Given the description of an element on the screen output the (x, y) to click on. 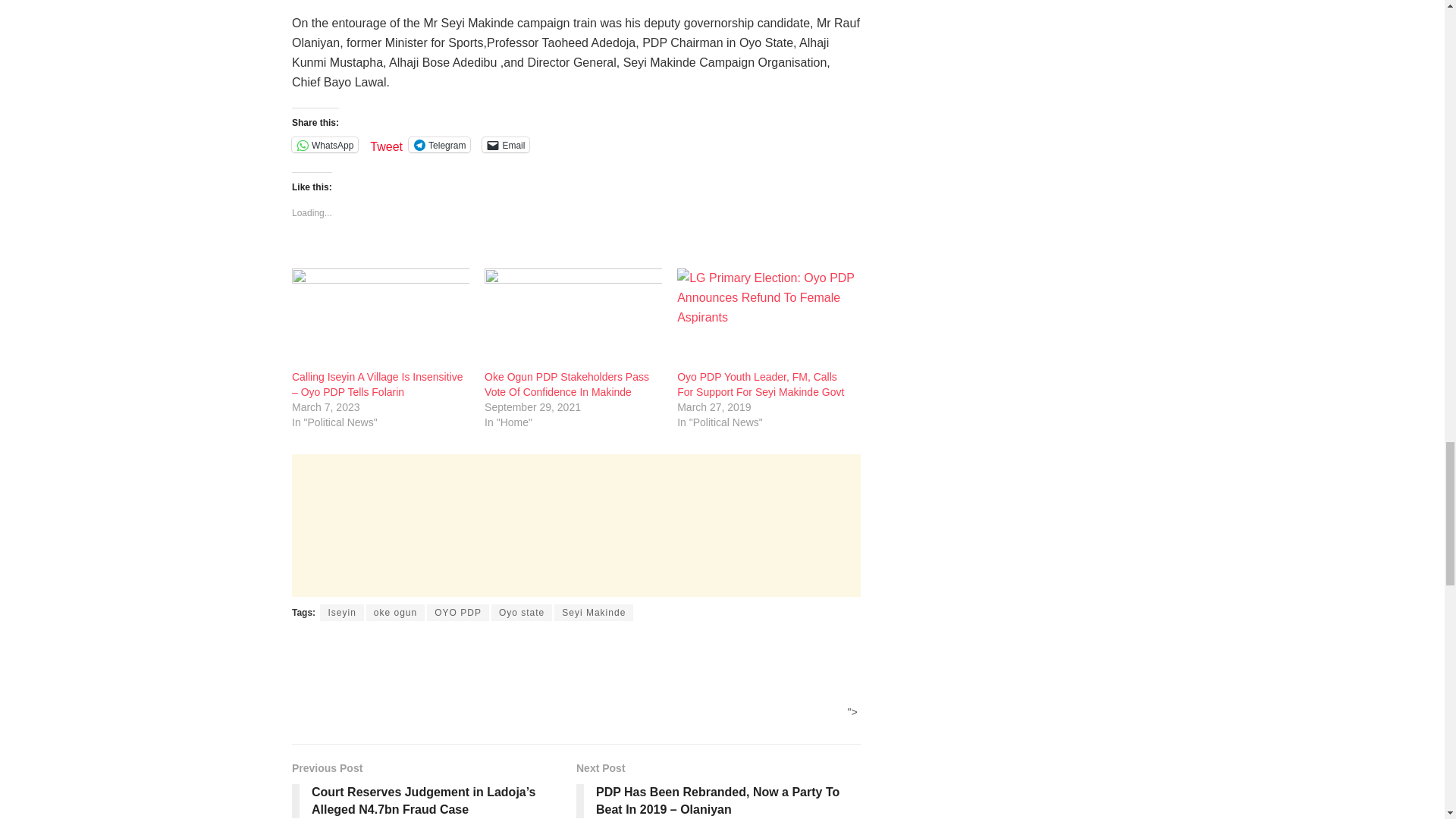
Click to share on Telegram (439, 144)
Click to share on WhatsApp (325, 144)
Click to email a link to a friend (505, 144)
Oke Ogun PDP Stakeholders Pass Vote Of Confidence In Makinde (573, 319)
